Given the description of an element on the screen output the (x, y) to click on. 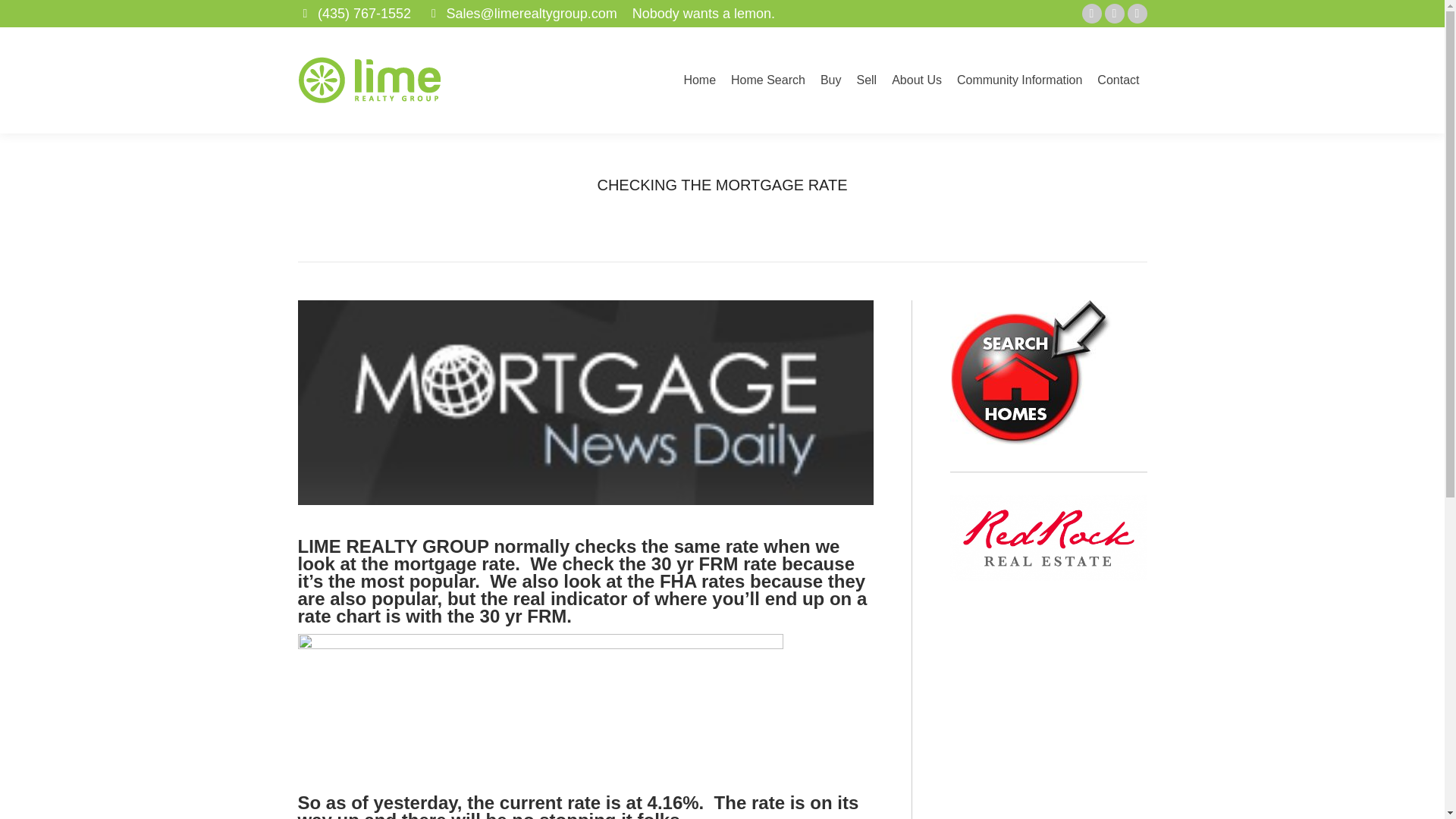
Facebook page opens in new window (1091, 13)
Uncategorized (659, 209)
Buy (830, 79)
Home (602, 209)
mort (584, 402)
Mail page opens in new window (1136, 13)
Uncategorized (659, 209)
Home (602, 209)
Contact (1118, 79)
About Us (916, 79)
Facebook page opens in new window (1091, 13)
Sell (865, 79)
Mail page opens in new window (1136, 13)
Home Search (767, 79)
Community Information (1019, 79)
